Given the description of an element on the screen output the (x, y) to click on. 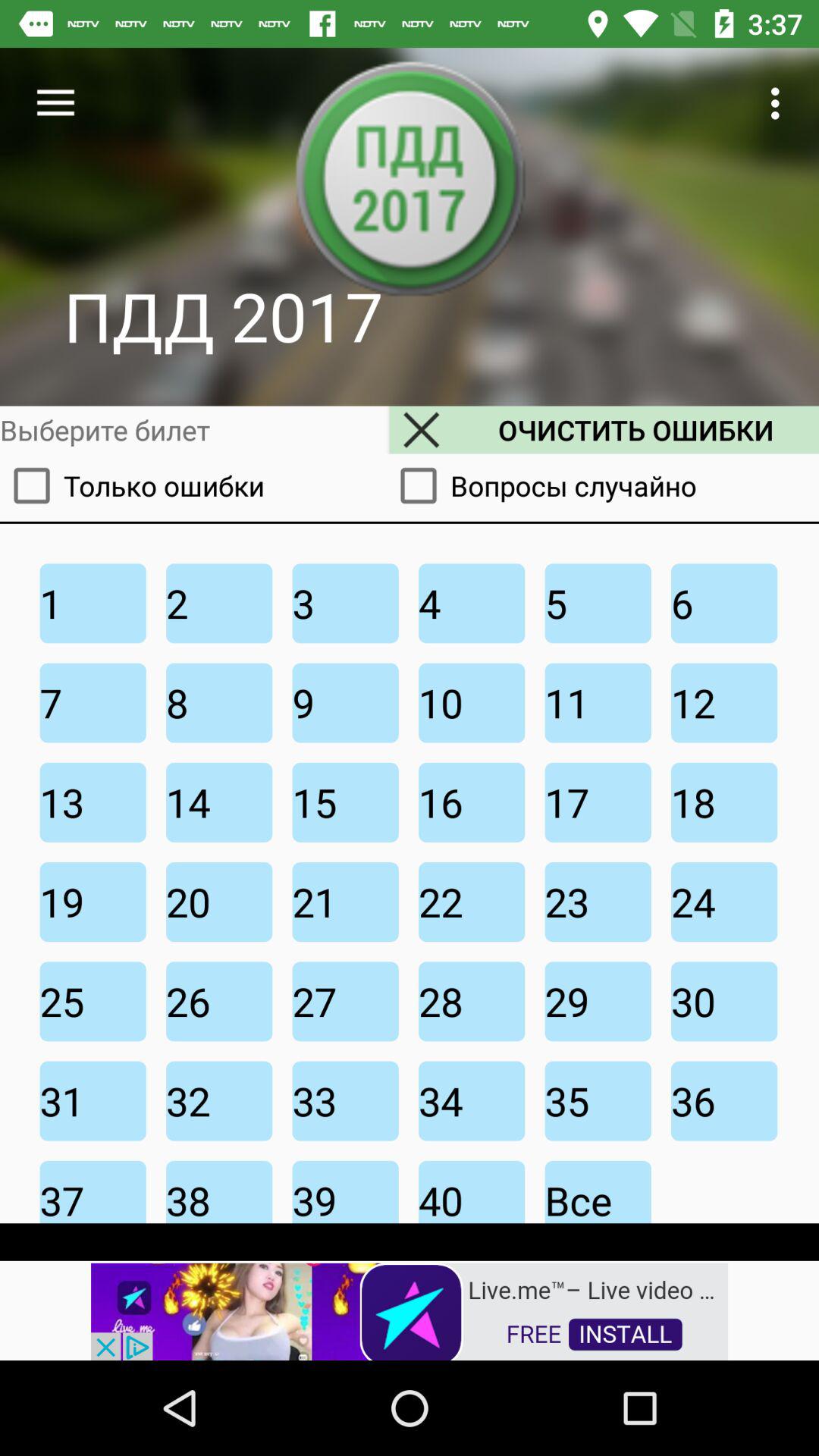
advertise banner (409, 1310)
